Given the description of an element on the screen output the (x, y) to click on. 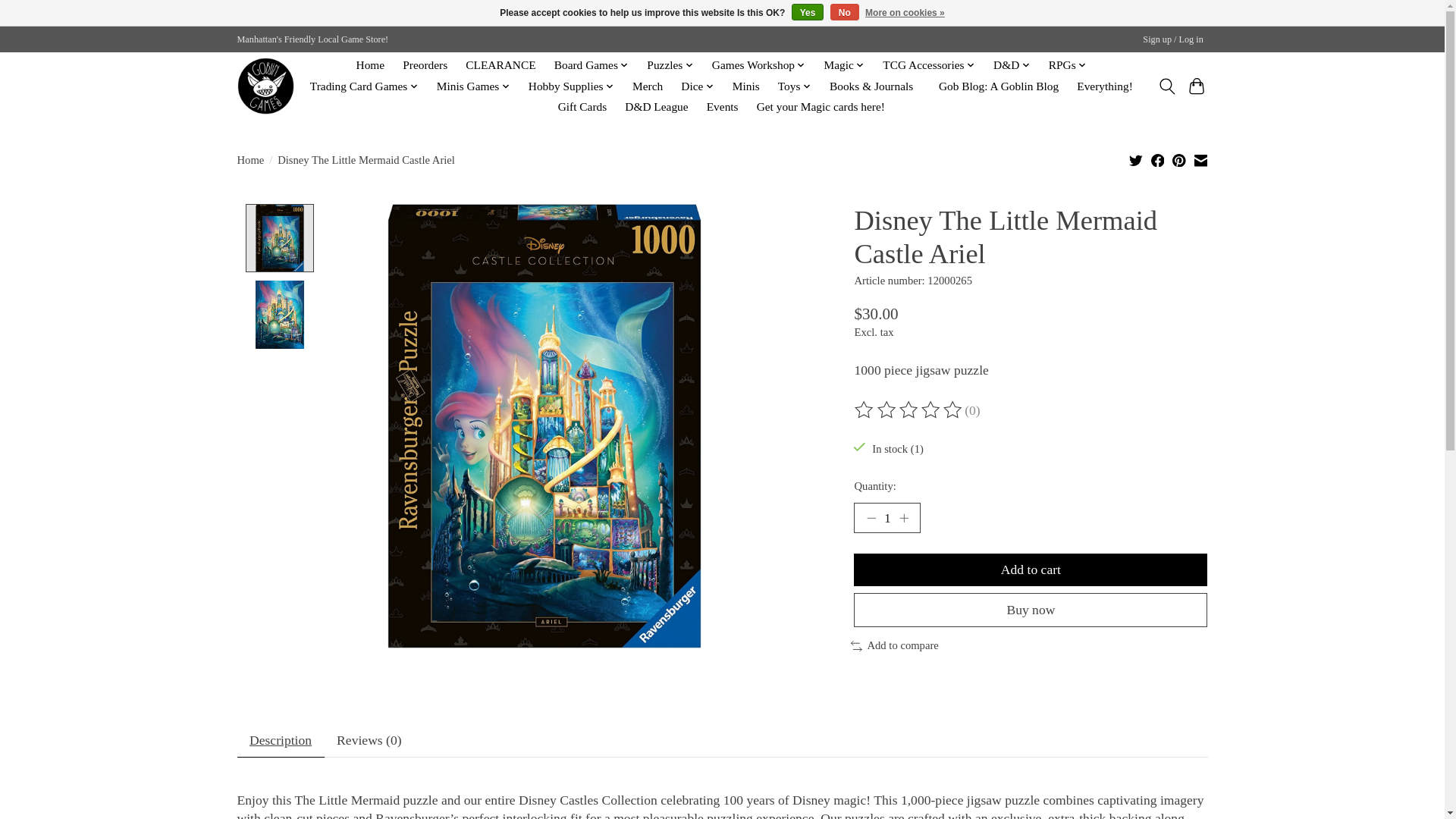
Board Games (590, 65)
Games Workshop (758, 65)
CLEARANCE (500, 65)
Goblin Games (264, 85)
Home (370, 65)
1 (886, 517)
Puzzles (670, 65)
My account (1173, 39)
Preorders (424, 65)
